Given the description of an element on the screen output the (x, y) to click on. 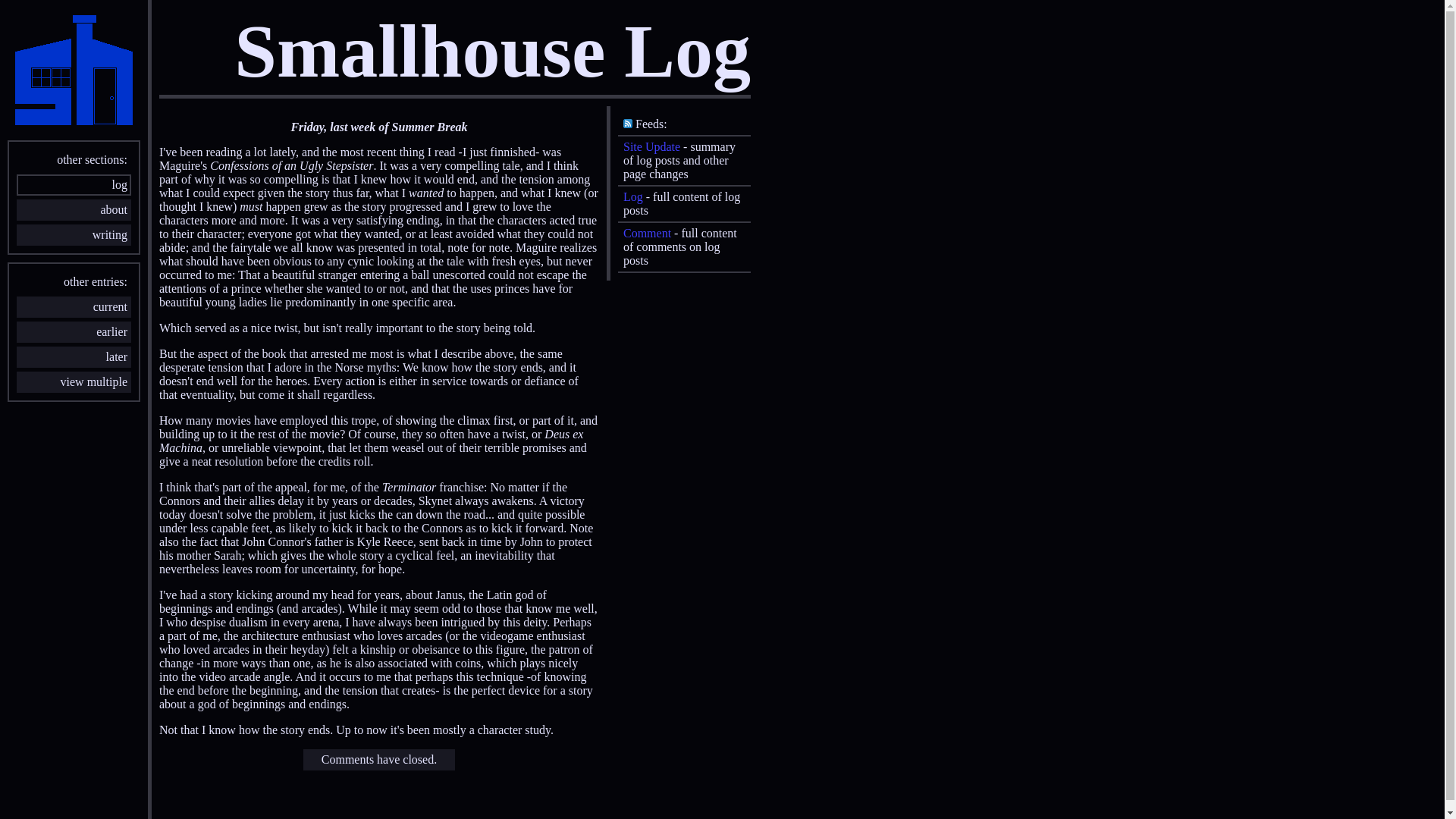
earlier Element type: text (73, 331)
current Element type: text (73, 306)
writing Element type: text (73, 234)
Log Element type: text (633, 196)
Comment Element type: text (647, 232)
log Element type: text (73, 184)
Site Update Element type: text (651, 146)
later Element type: text (73, 356)
view multiple Element type: text (73, 381)
about Element type: text (73, 209)
